Given the description of an element on the screen output the (x, y) to click on. 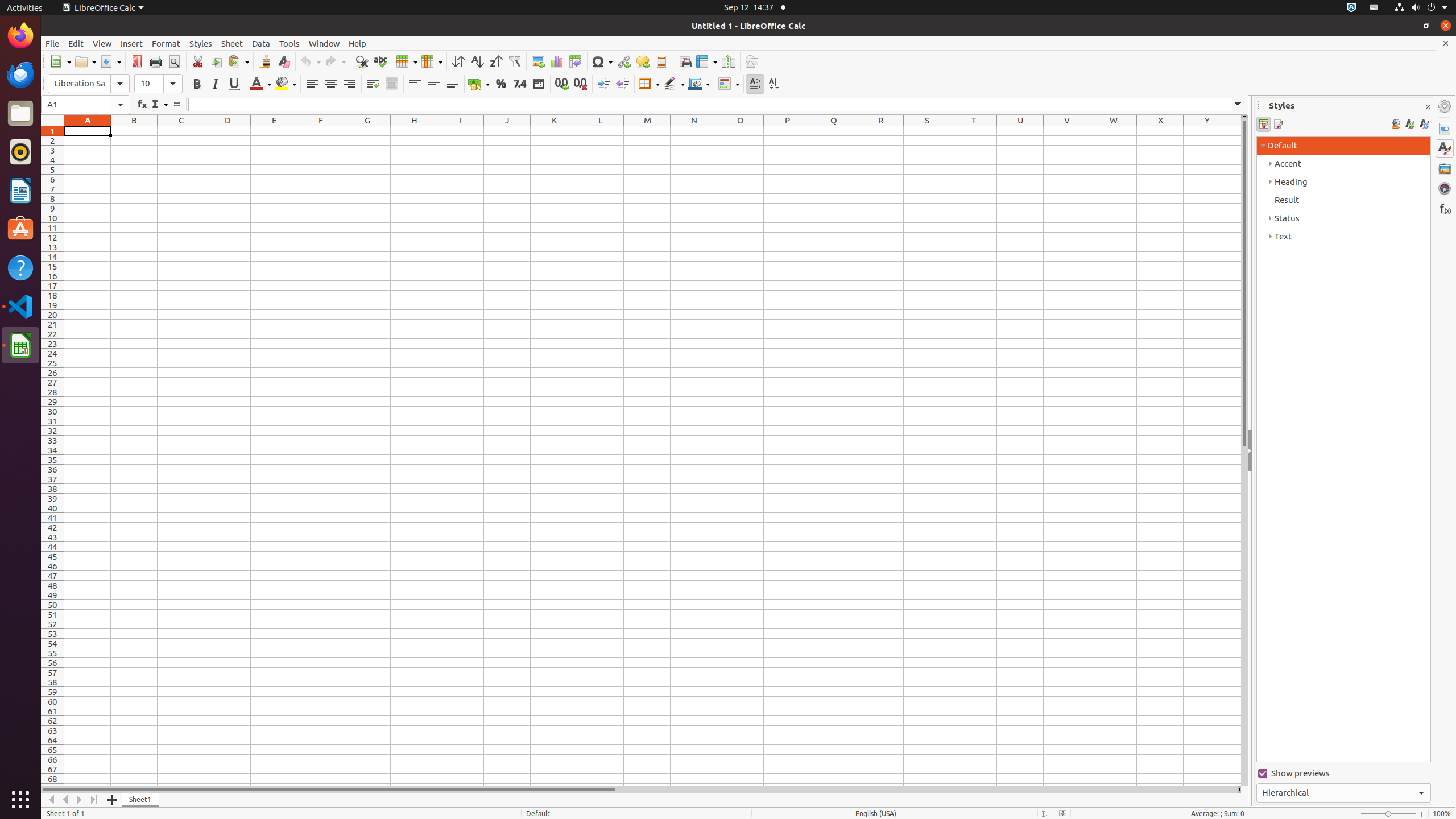
Cut Element type: push-button (197, 61)
Sheet Element type: menu (231, 43)
Horizontal scroll bar Element type: scroll-bar (639, 789)
System Element type: menu (1420, 7)
Add Decimal Place Element type: push-button (561, 83)
